Given the description of an element on the screen output the (x, y) to click on. 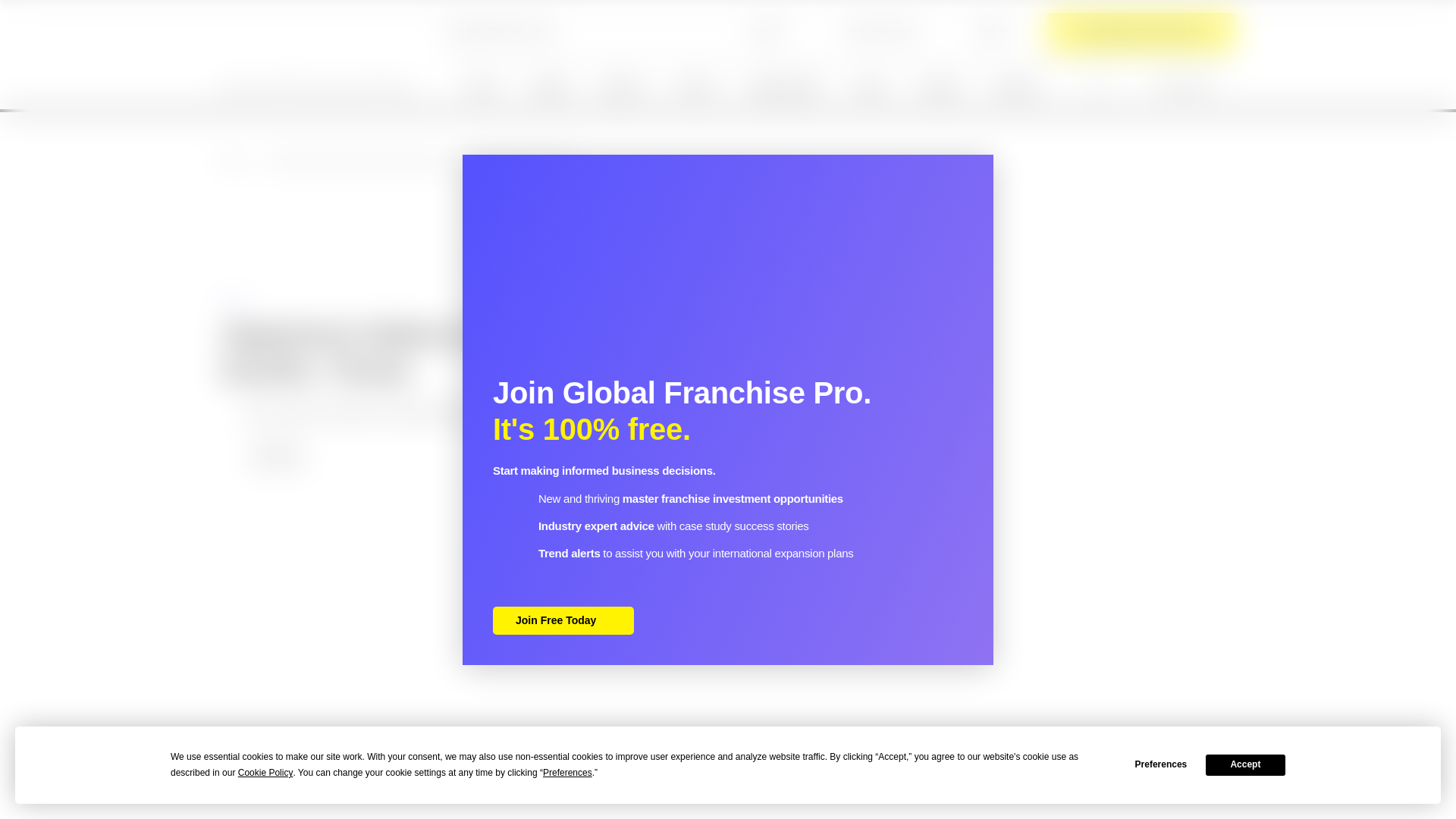
Opportunities (785, 86)
Join Global Franchise Pro (1141, 30)
Search (754, 31)
Preferences (1156, 765)
Reports (622, 86)
Accept (1245, 765)
News (481, 86)
All Sections (1166, 85)
Cookie Policy (266, 772)
Sign in (981, 31)
Video (870, 86)
Insight (549, 86)
3rd party ad content (727, 222)
Tweet this post (920, 456)
Podcast (1015, 86)
